Given the description of an element on the screen output the (x, y) to click on. 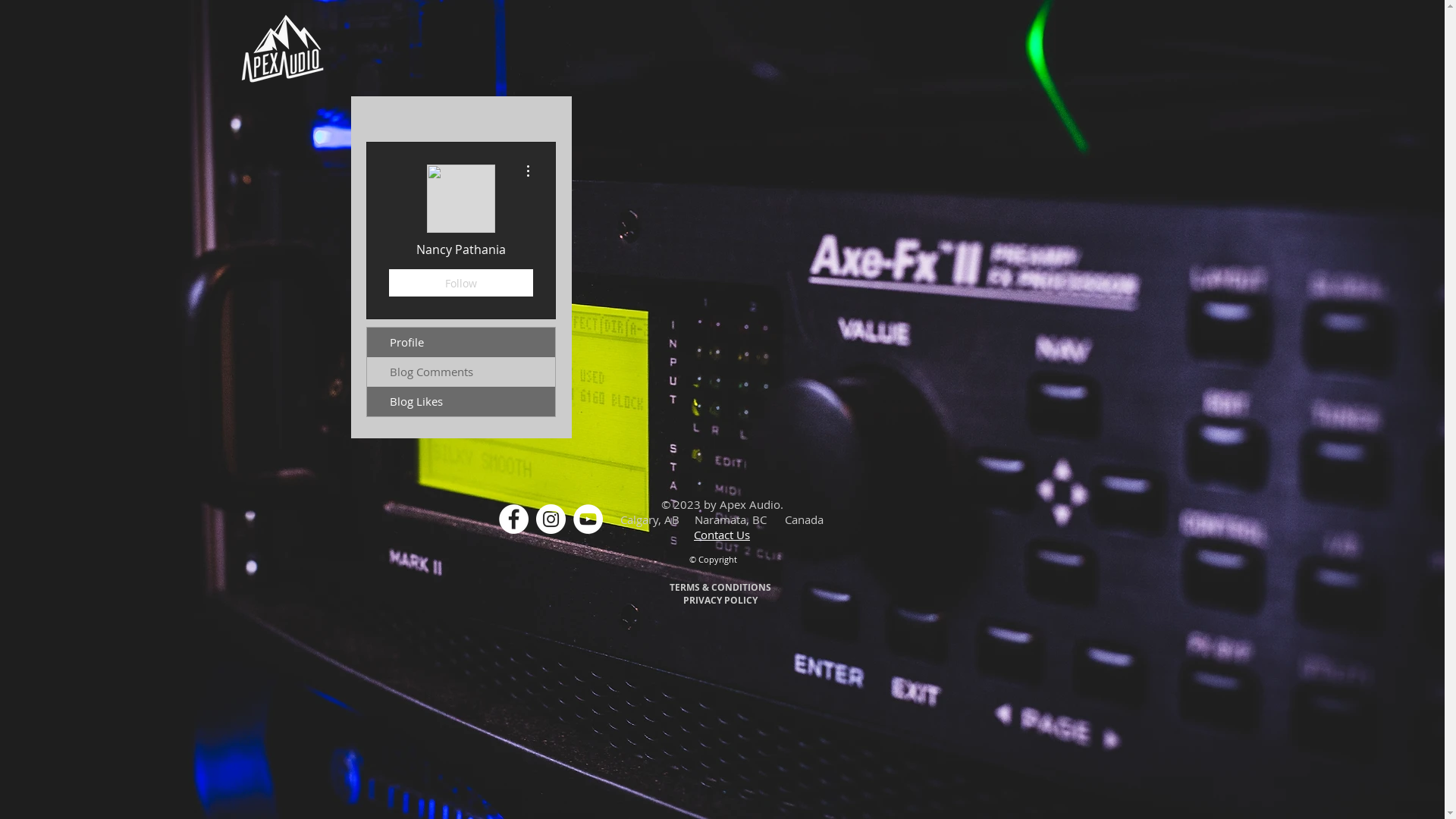
PRIVACY POLICY Element type: text (719, 599)
Follow Element type: text (460, 282)
Contact Us Element type: text (721, 534)
Blog Comments Element type: text (461, 371)
Profile Element type: text (461, 342)
Blog Likes Element type: text (461, 401)
TERMS & CONDITIONS Element type: text (719, 586)
